Given the description of an element on the screen output the (x, y) to click on. 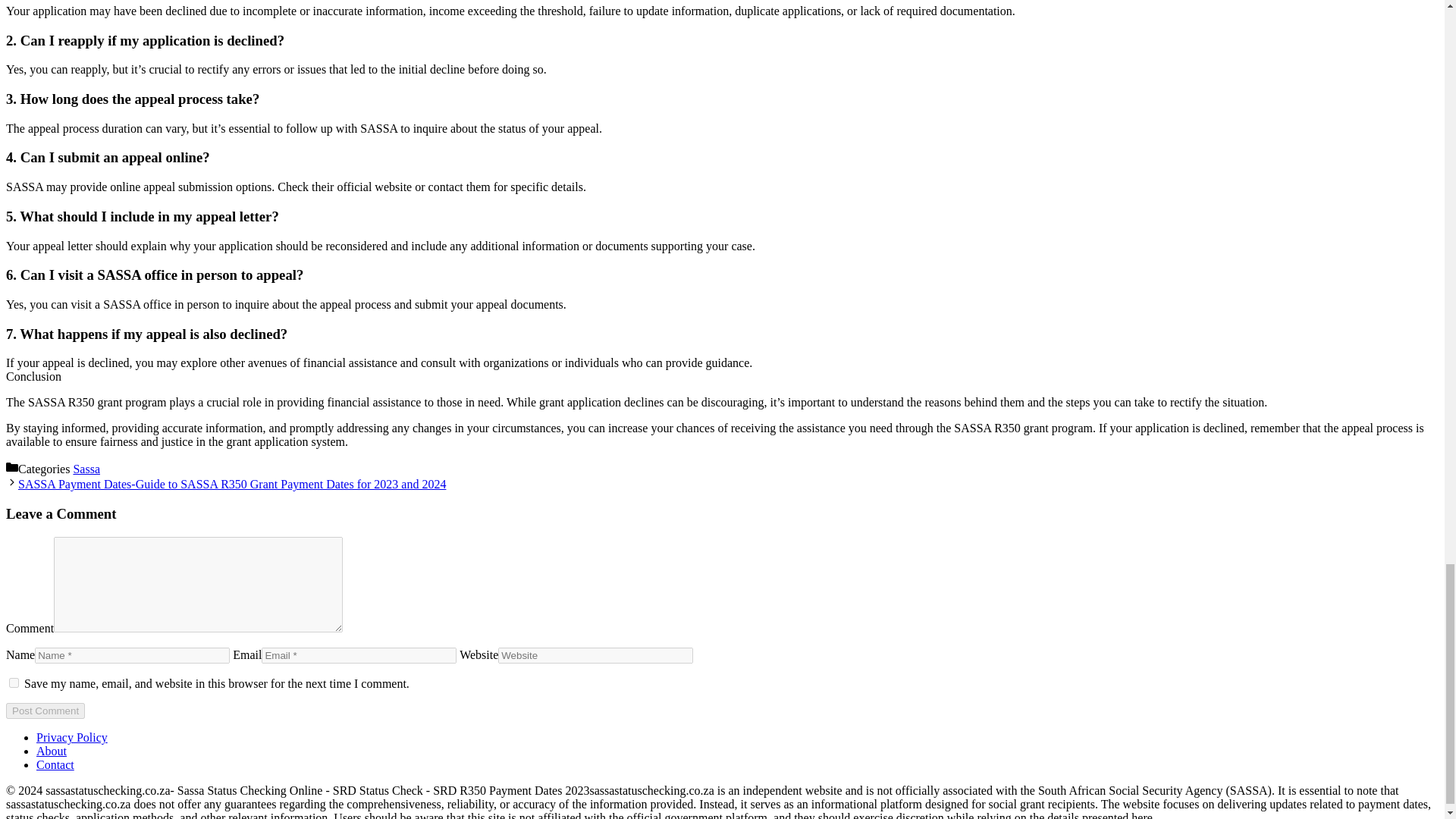
Privacy Policy (71, 737)
Post Comment (44, 710)
Sassa (86, 468)
Post Comment (44, 710)
Contact (55, 764)
yes (13, 682)
About (51, 750)
